Given the description of an element on the screen output the (x, y) to click on. 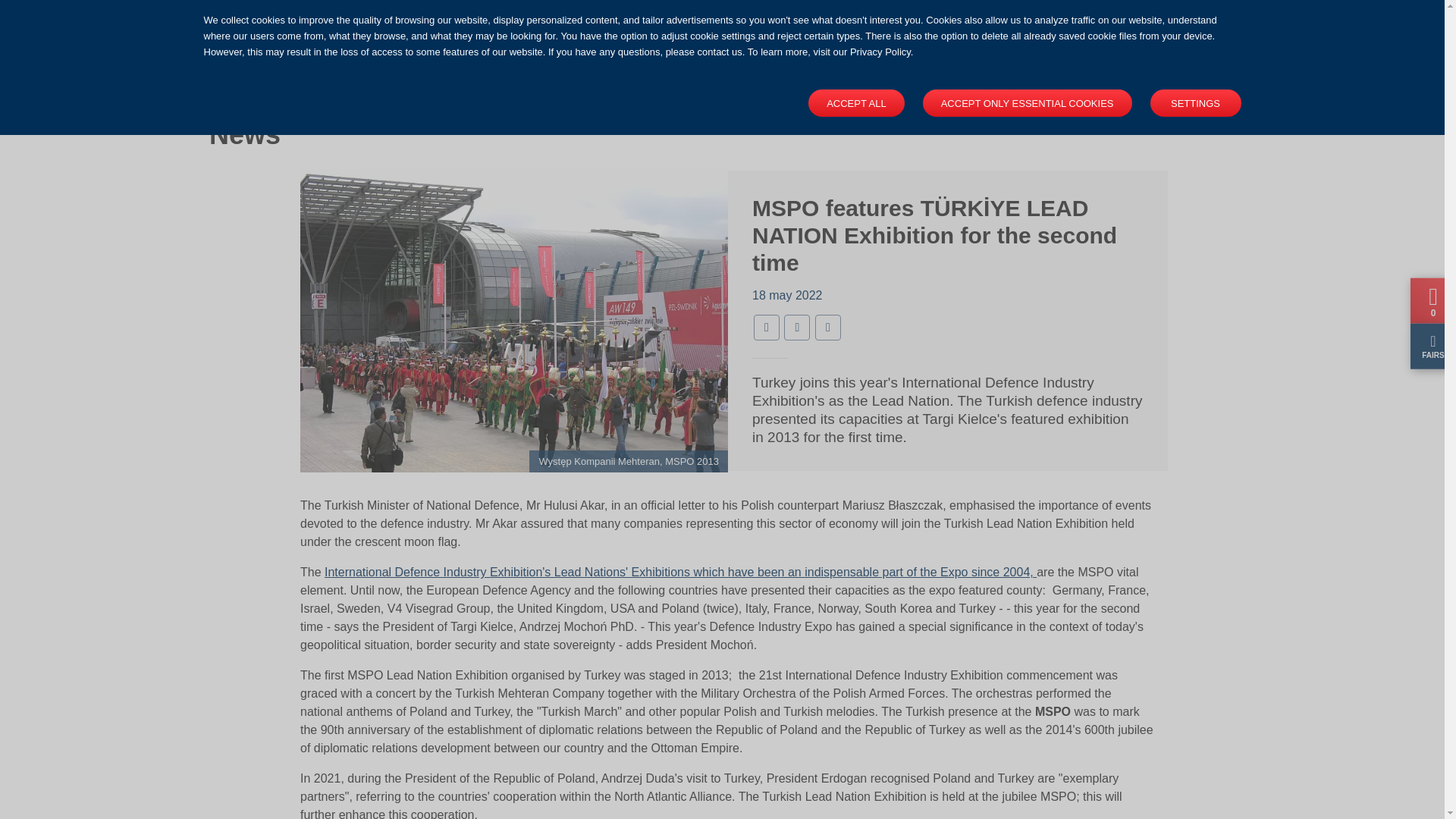
ACCEPT ALL (856, 103)
Privacy Policy (744, 28)
SETTINGS (998, 29)
Congress Centre (1195, 103)
LOGIN (855, 29)
Let others know about the event - Facebook (1090, 28)
SERVICES (766, 327)
HOME PAGE (520, 74)
ACCEPT ONLY ESSENTIAL COOKIES (428, 74)
Let others know about the event - LinkedIn (1027, 103)
For media (828, 327)
Let others know about the event - Twitter (930, 29)
